Given the description of an element on the screen output the (x, y) to click on. 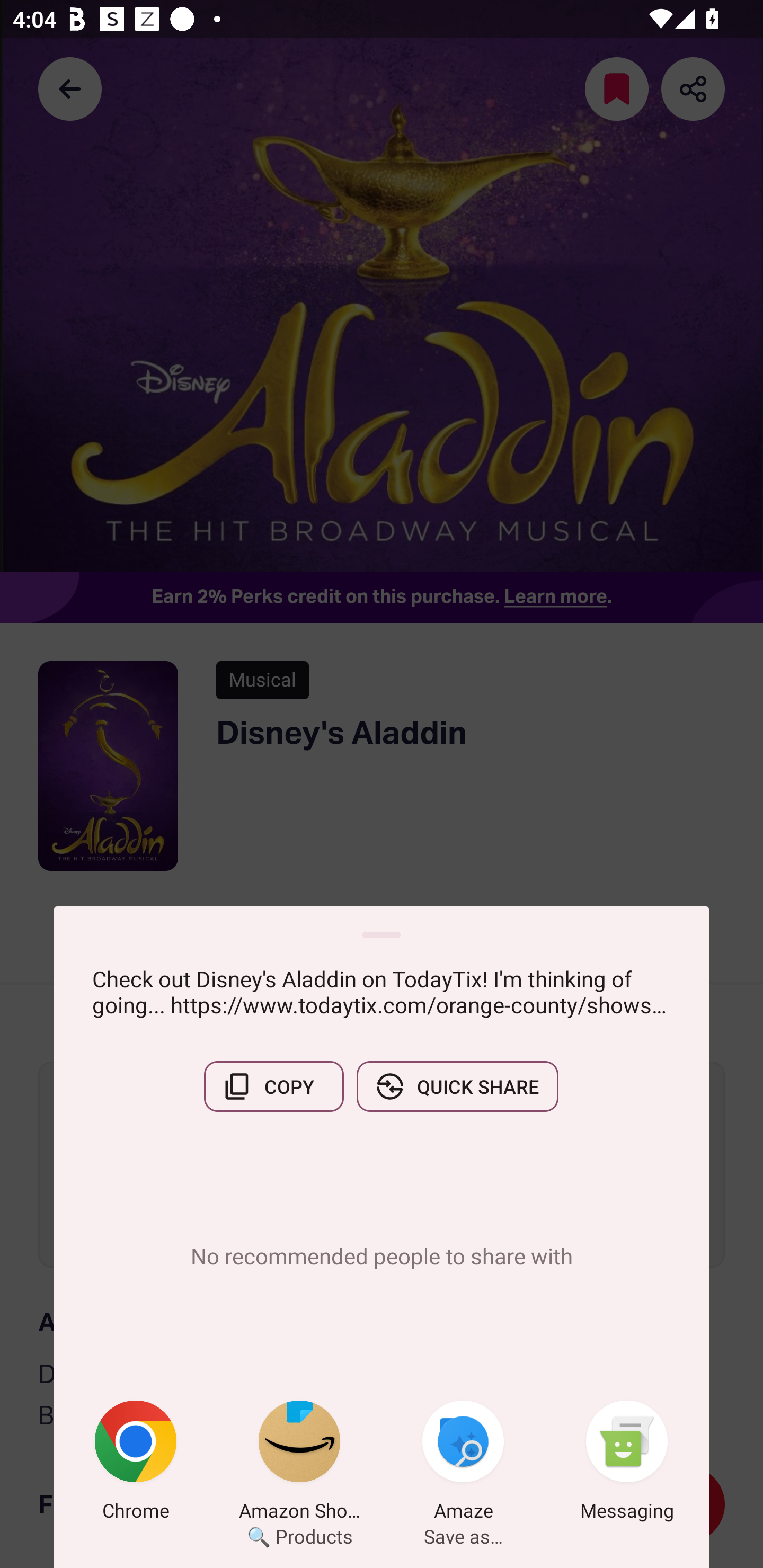
COPY (273, 1086)
QUICK SHARE (457, 1086)
Chrome (135, 1463)
Amazon Shopping 🔍 Products (299, 1463)
Amaze Save as… (463, 1463)
Messaging (626, 1463)
